Given the description of an element on the screen output the (x, y) to click on. 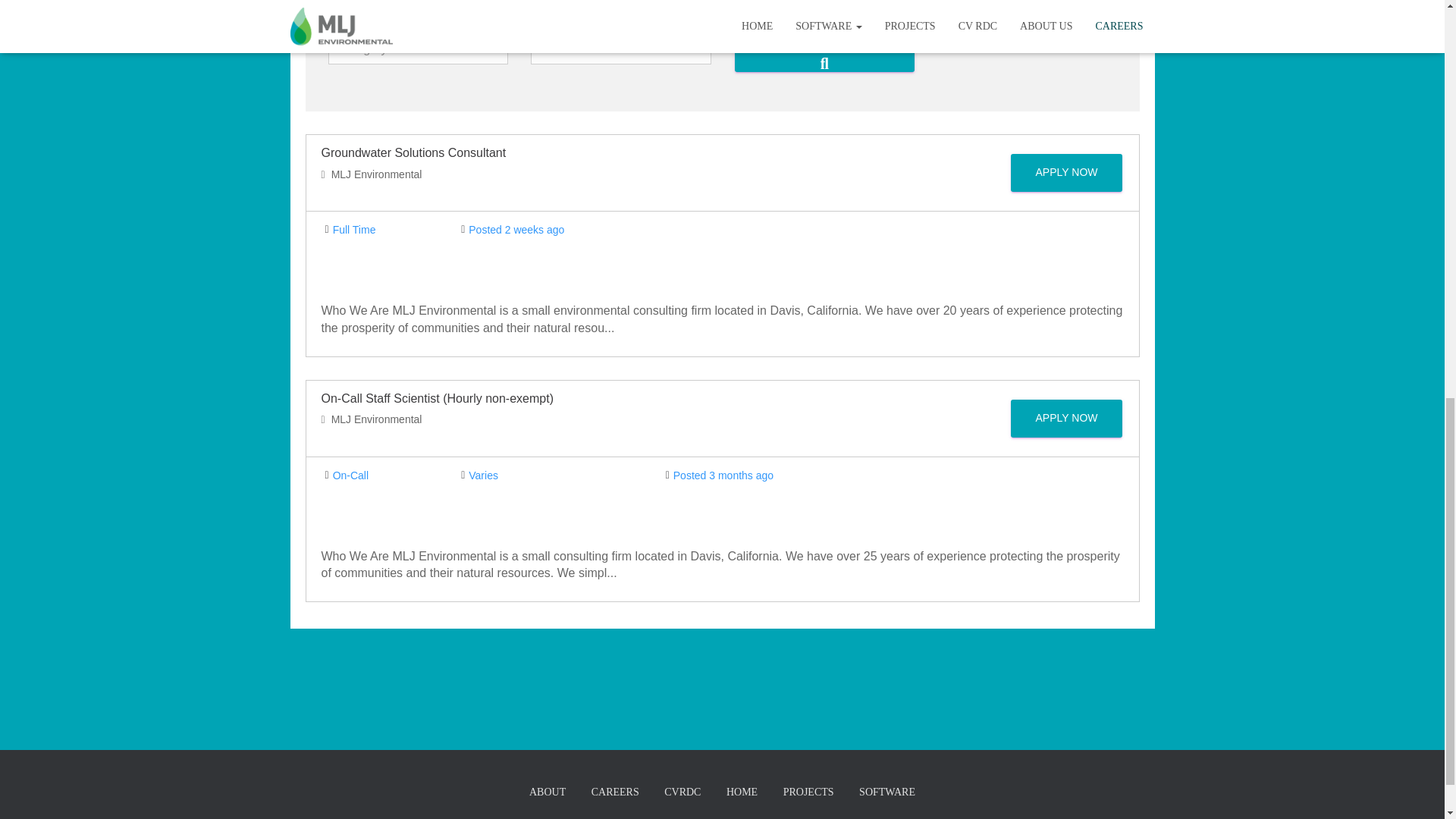
SOFTWARE (886, 793)
Groundwater Solutions Consultant (413, 152)
APPLY NOW (1066, 172)
APPLY NOW (1066, 418)
CAREERS (614, 793)
CVRDC (681, 793)
PROJECTS (808, 793)
ABOUT (547, 793)
HOME (741, 793)
